Given the description of an element on the screen output the (x, y) to click on. 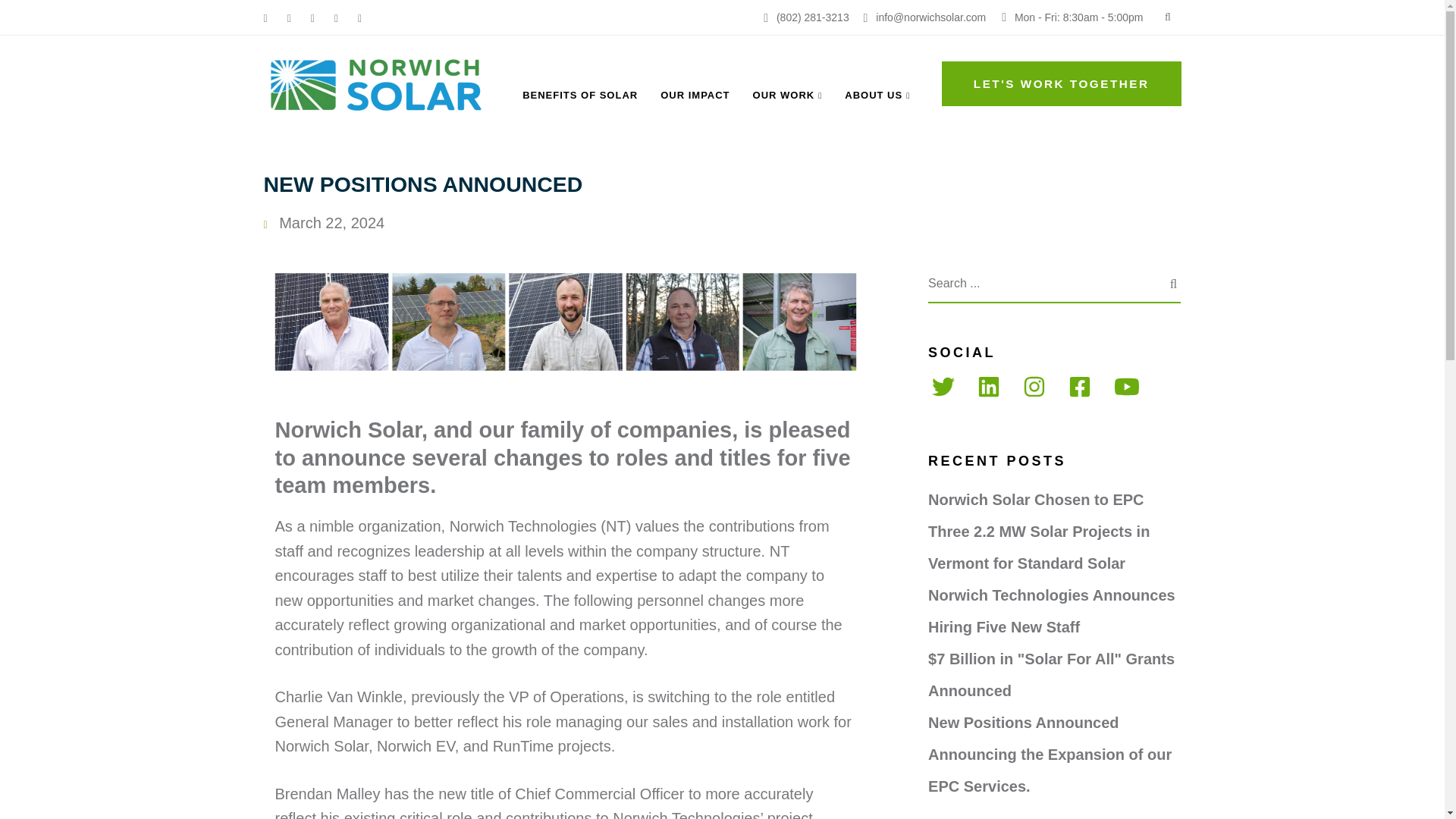
New Positions Announced (565, 321)
OUR WORK (787, 95)
OUR IMPACT (695, 95)
BENEFITS OF SOLAR (580, 95)
Norwich-Solar-color-768x236 (377, 82)
ABOUT US (876, 95)
